Given the description of an element on the screen output the (x, y) to click on. 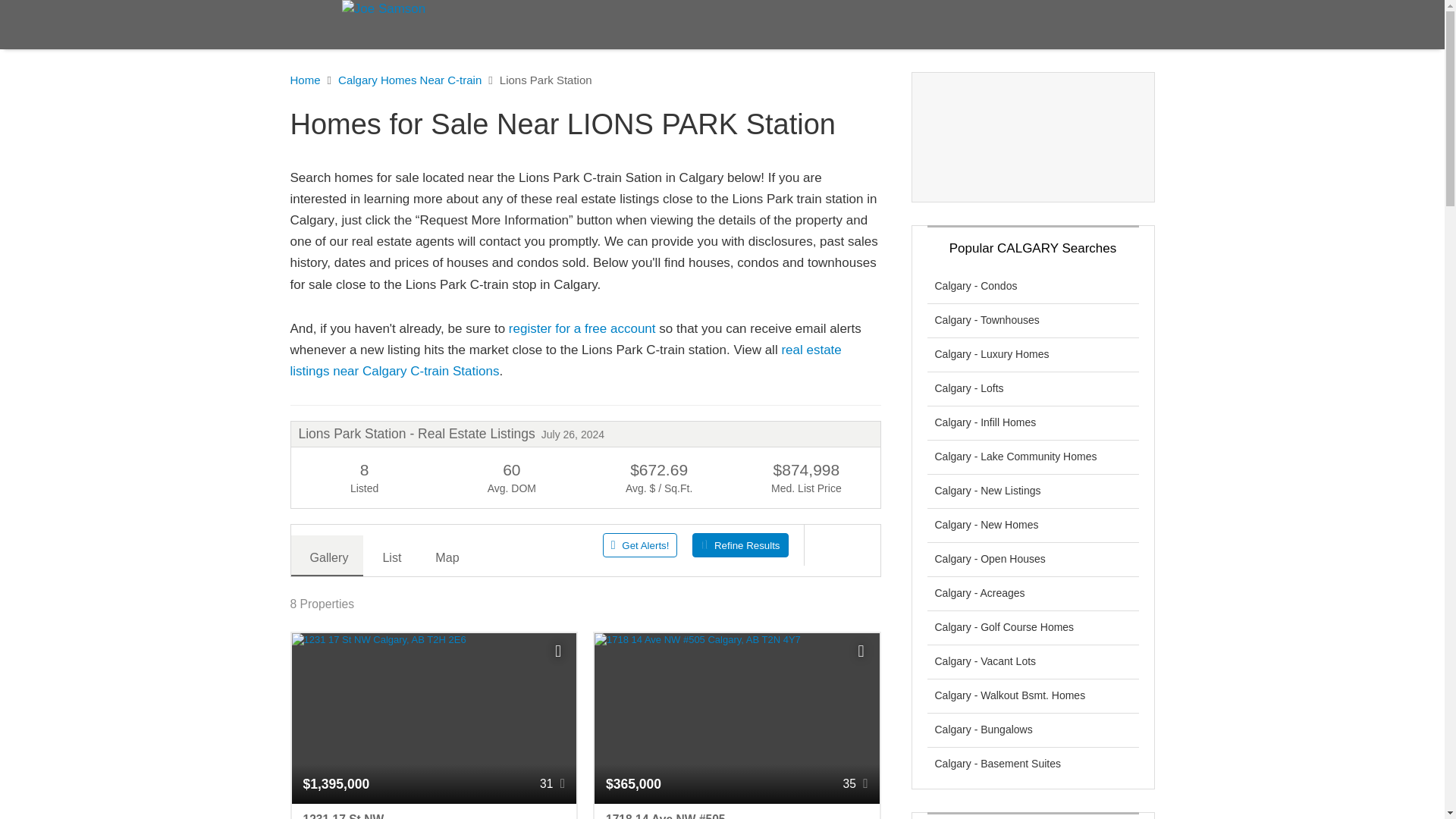
1231 17 St NW Calgary,  AB T2H 2E6 (433, 811)
View all homes close to a C-train station in Calgary (565, 360)
